Given the description of an element on the screen output the (x, y) to click on. 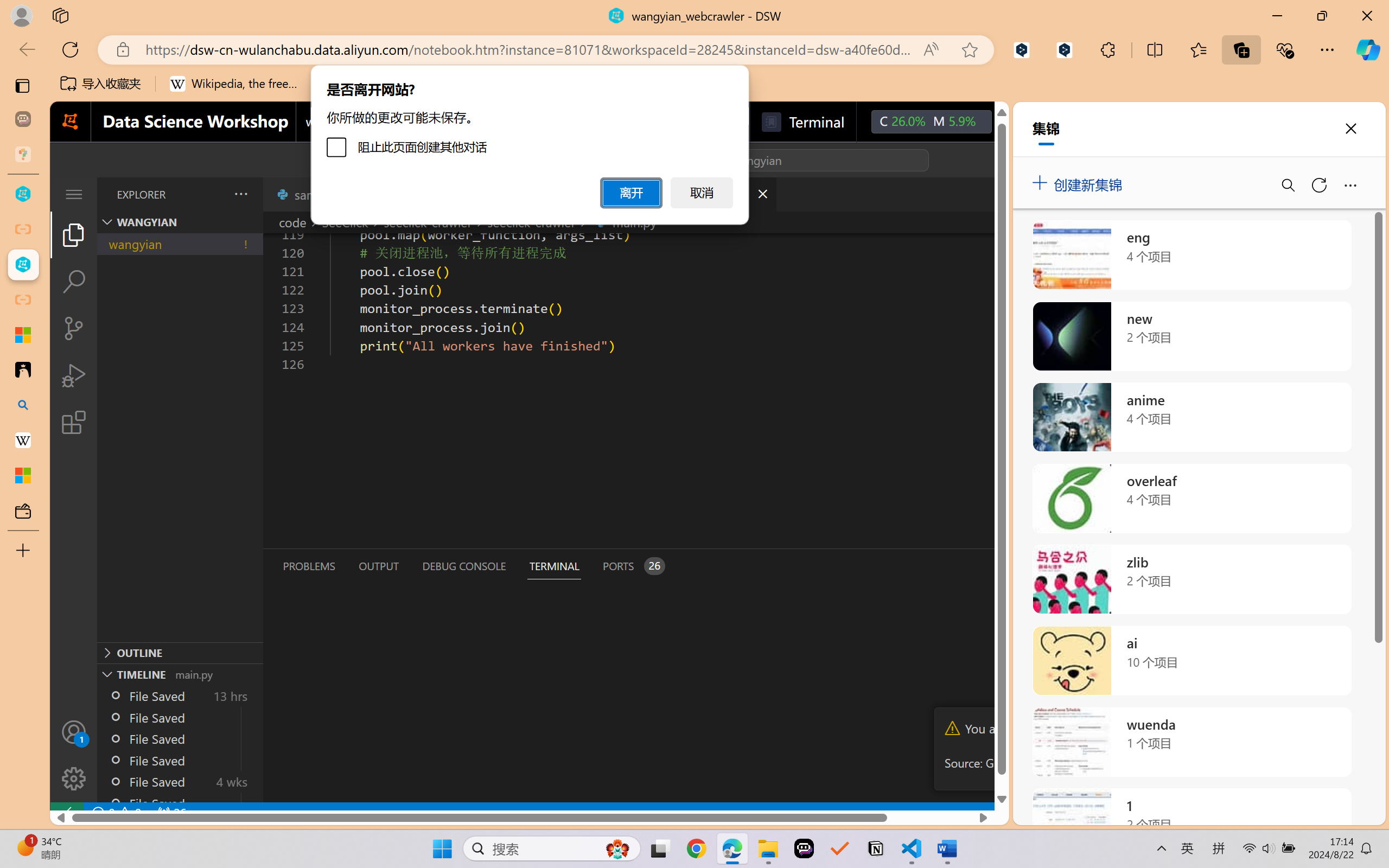
wangyian_webcrawler - DSW (22, 264)
Adjust indents and spacing - Microsoft Support (22, 334)
